Given the description of an element on the screen output the (x, y) to click on. 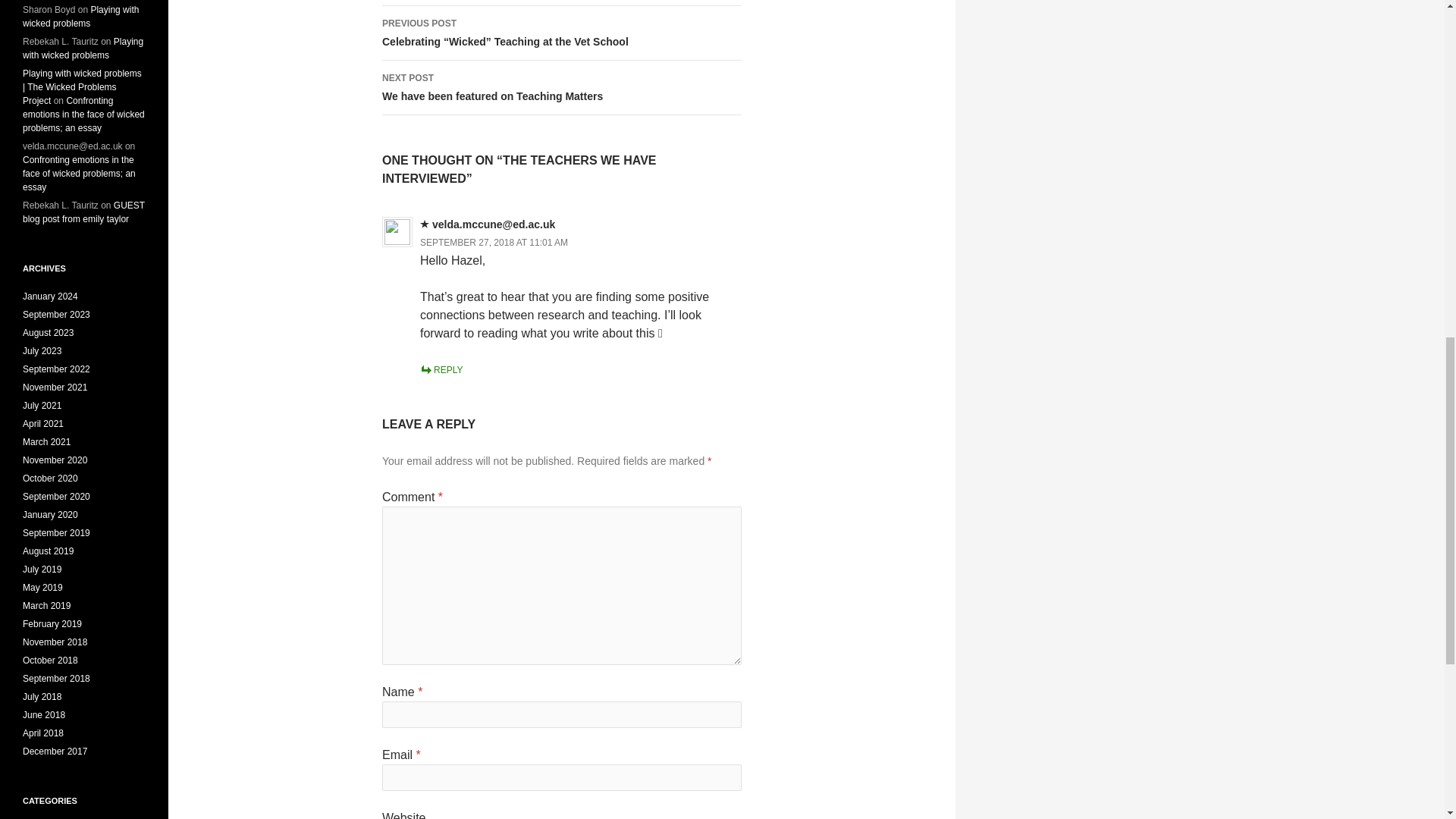
Playing with wicked problems (82, 48)
September 2023 (561, 87)
GUEST blog post from emily taylor (56, 314)
Playing with wicked problems (83, 211)
August 2023 (80, 16)
January 2024 (48, 332)
REPLY (50, 296)
SEPTEMBER 27, 2018 AT 11:01 AM (441, 369)
